Given the description of an element on the screen output the (x, y) to click on. 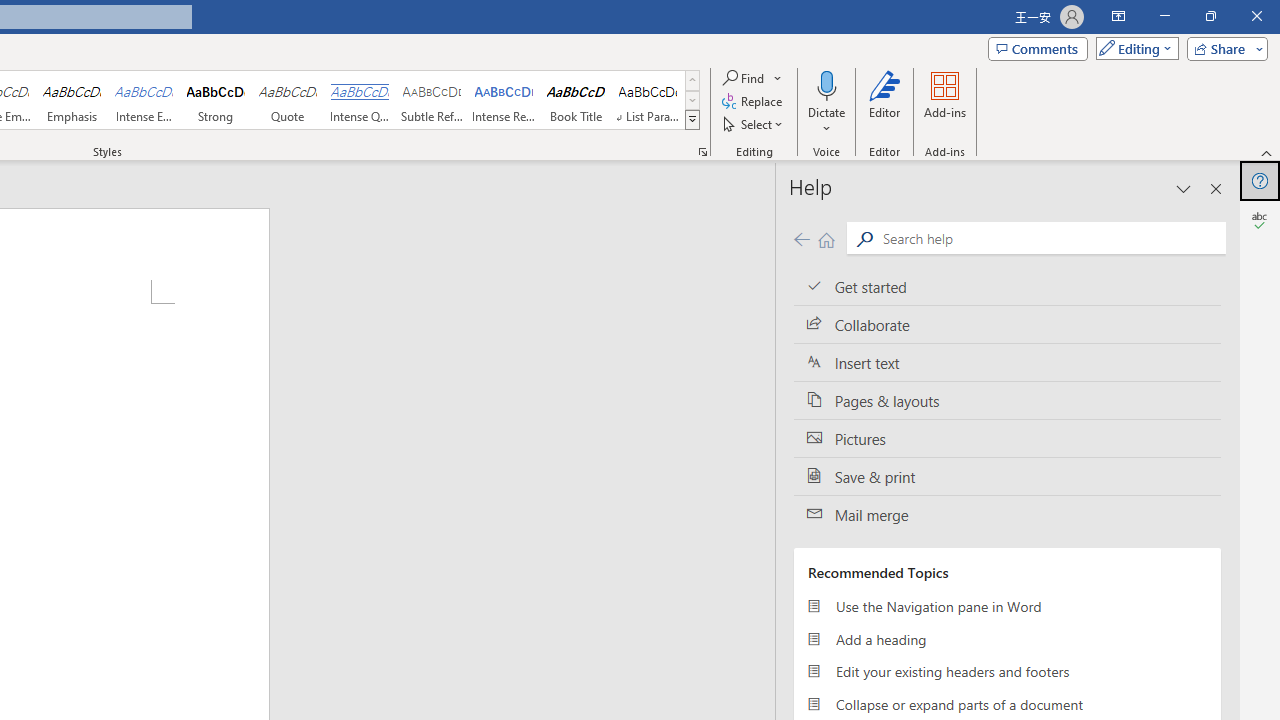
Collaborate (1007, 325)
Pages & layouts (1007, 400)
Get started (1007, 286)
Use the Navigation pane in Word (1007, 605)
